Given the description of an element on the screen output the (x, y) to click on. 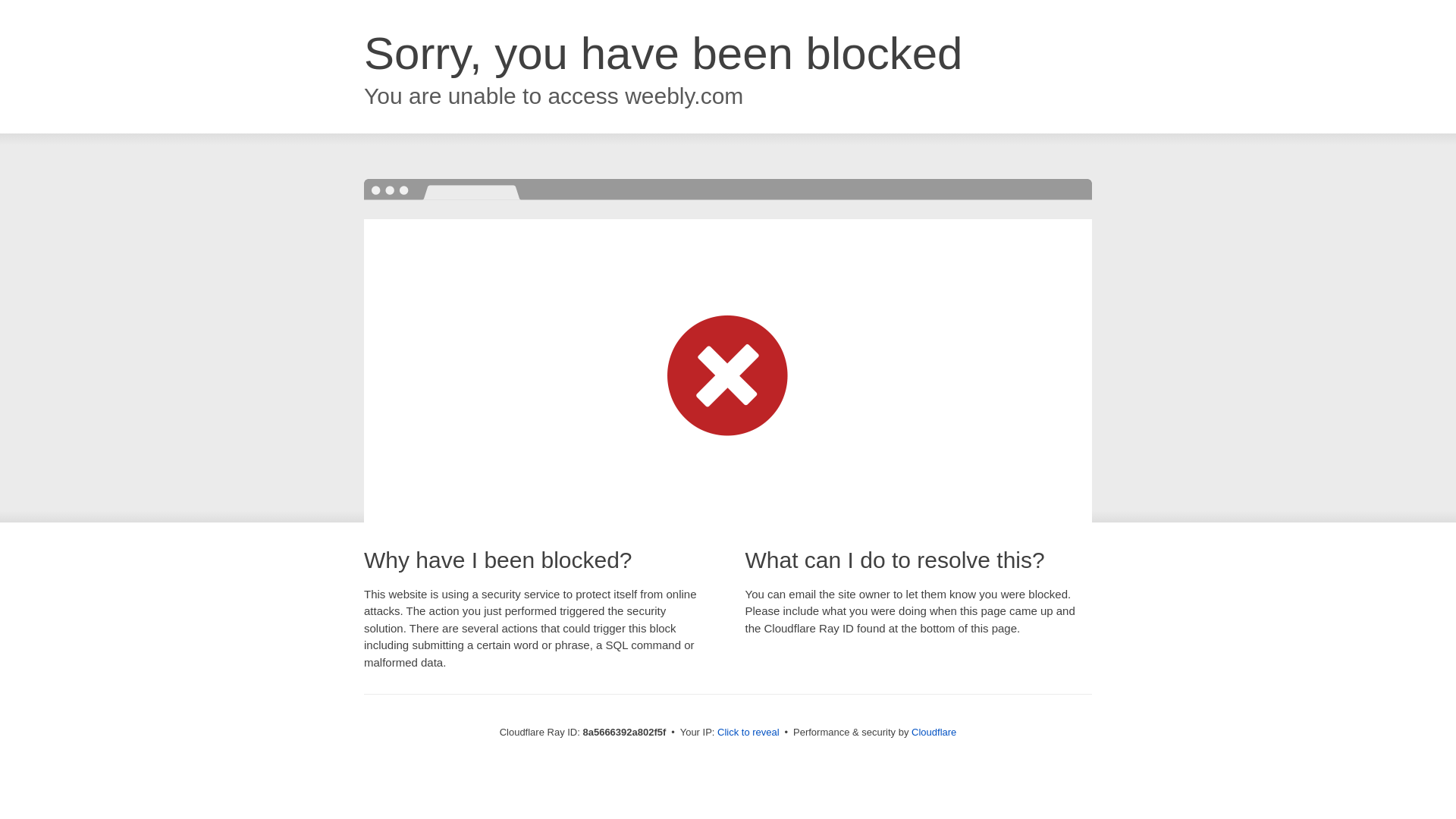
Cloudflare (933, 731)
Click to reveal (747, 732)
